Given the description of an element on the screen output the (x, y) to click on. 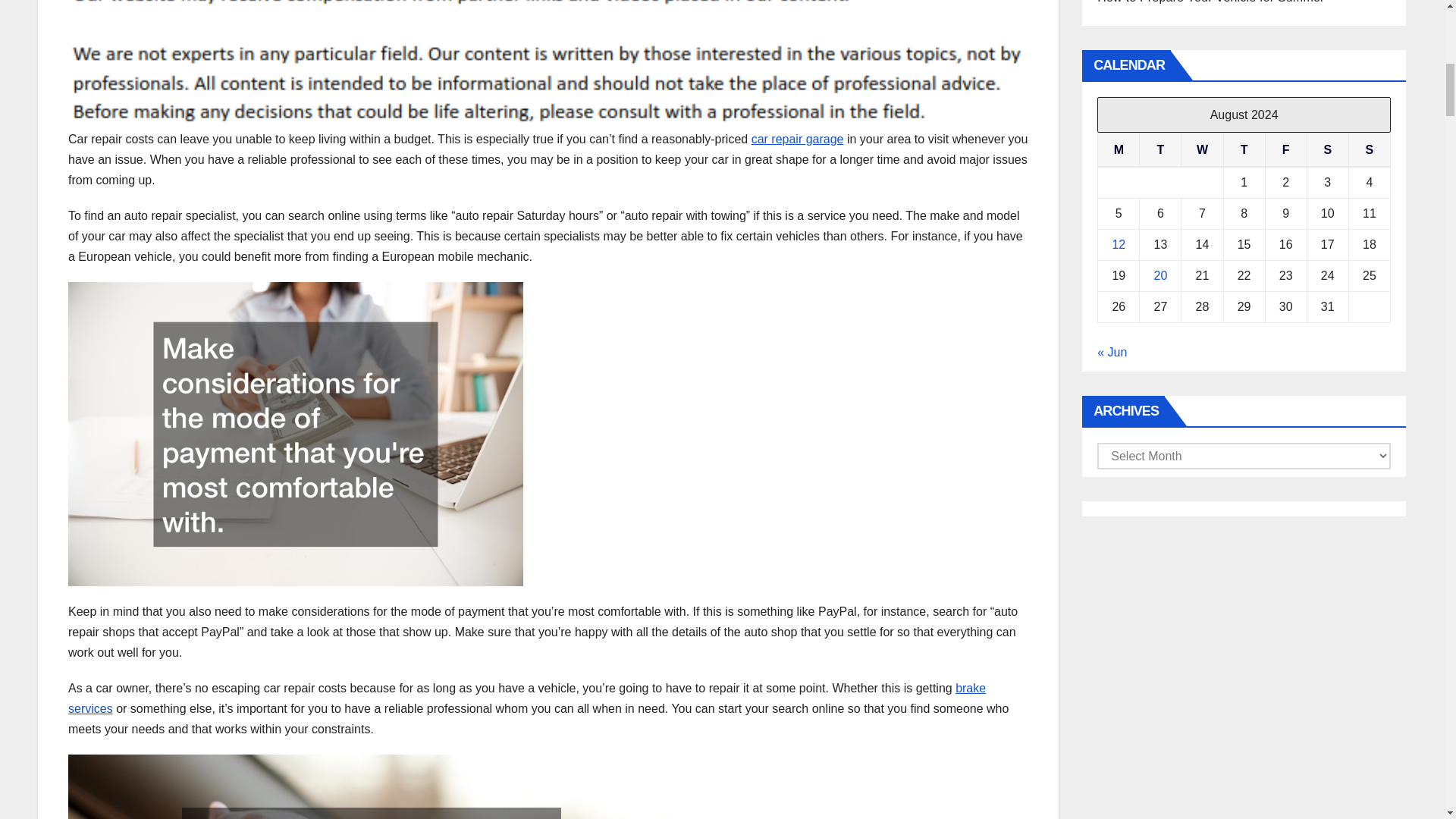
Monday (1118, 150)
Tuesday (1160, 150)
Thursday (1244, 150)
Wednesday (1201, 150)
car repair garage (797, 138)
brake services (526, 697)
